Given the description of an element on the screen output the (x, y) to click on. 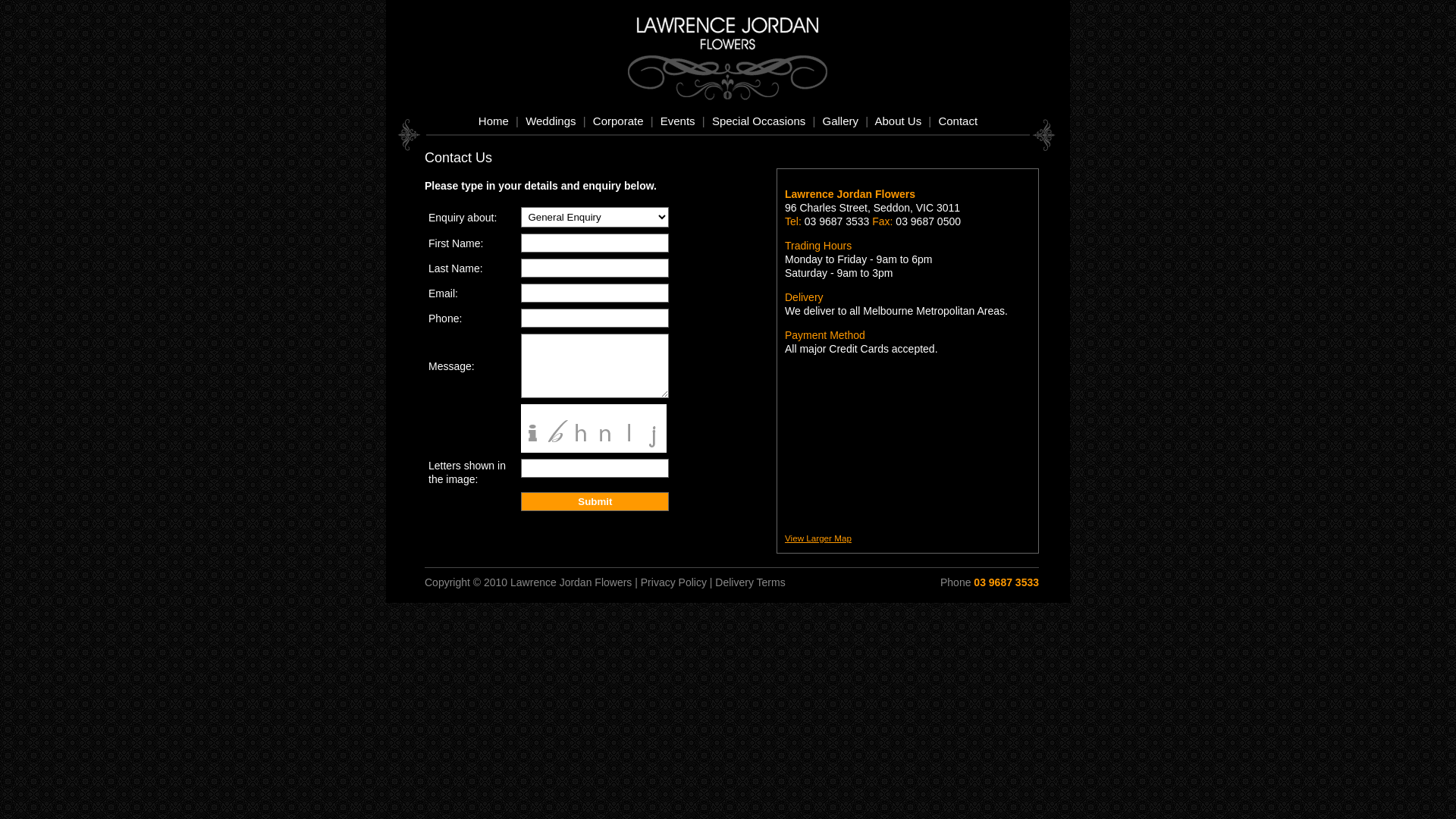
Corporate Element type: text (618, 120)
View Larger Map Element type: text (817, 537)
Special Occasions Element type: text (758, 120)
Submit Element type: text (594, 501)
Gallery Element type: text (840, 120)
Home Element type: text (493, 120)
Contact Element type: text (957, 120)
About Us Element type: text (897, 120)
Events Element type: text (677, 120)
Weddings Element type: text (550, 120)
Lawrence Jordan Flowers Element type: hover (735, 45)
Delivery Terms Element type: text (749, 582)
Privacy Policy Element type: text (673, 582)
